Given the description of an element on the screen output the (x, y) to click on. 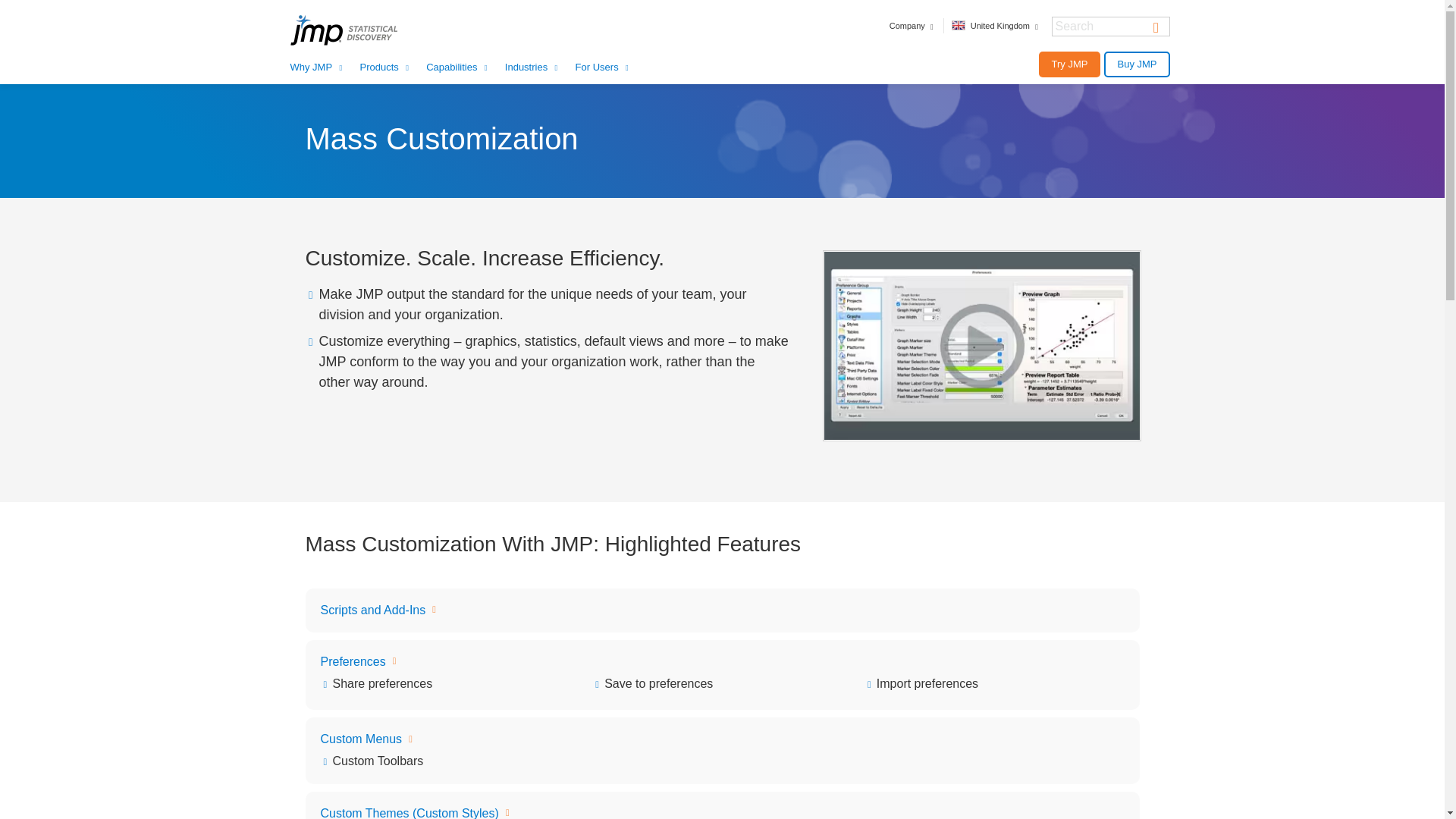
Search (1156, 25)
JMP Statistical Discovery (362, 30)
Search (1156, 25)
Mass Customization (981, 345)
Company (912, 25)
United Kingdom (996, 25)
